Given the description of an element on the screen output the (x, y) to click on. 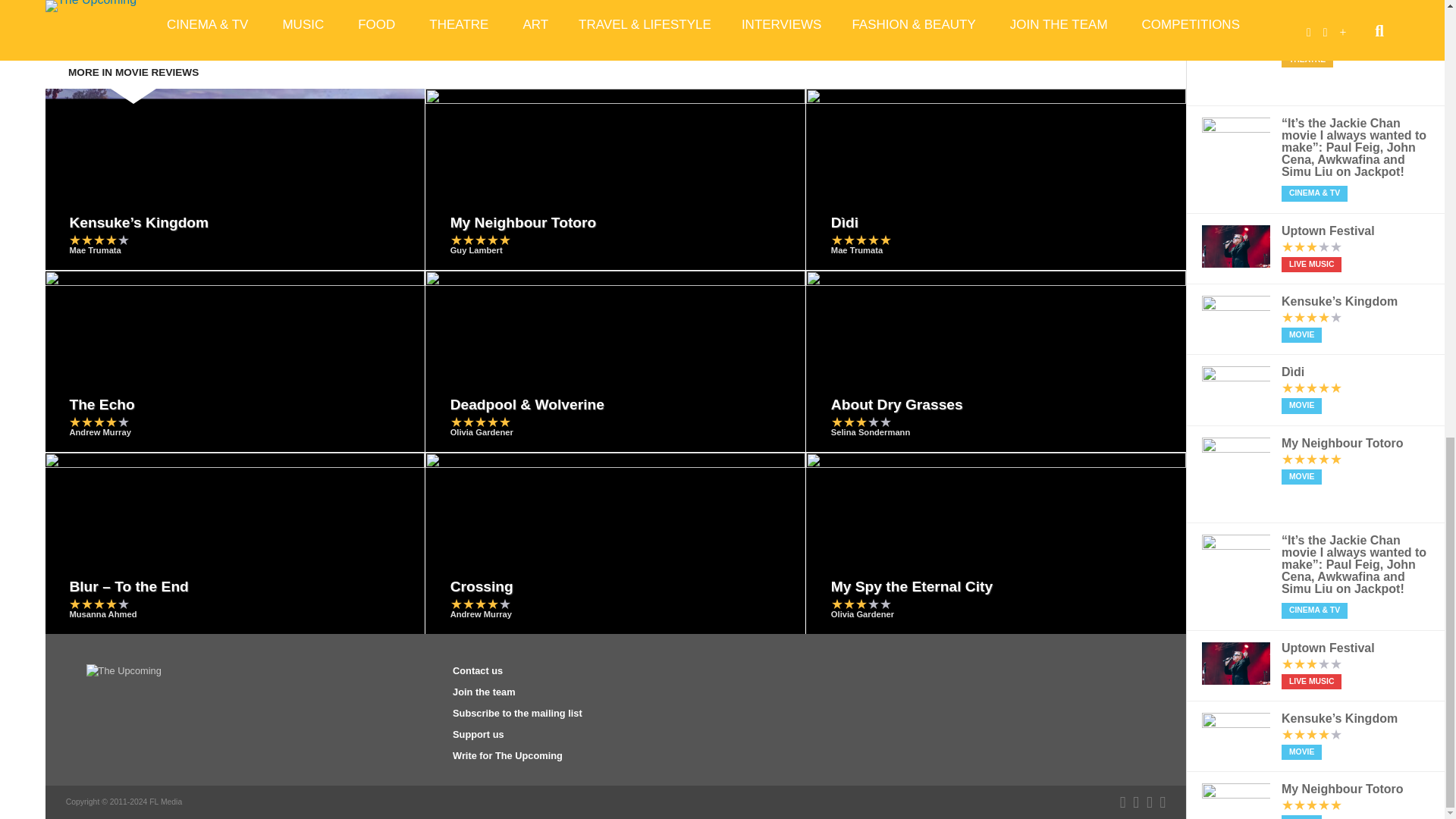
4 out of 5 stars (98, 239)
